Given the description of an element on the screen output the (x, y) to click on. 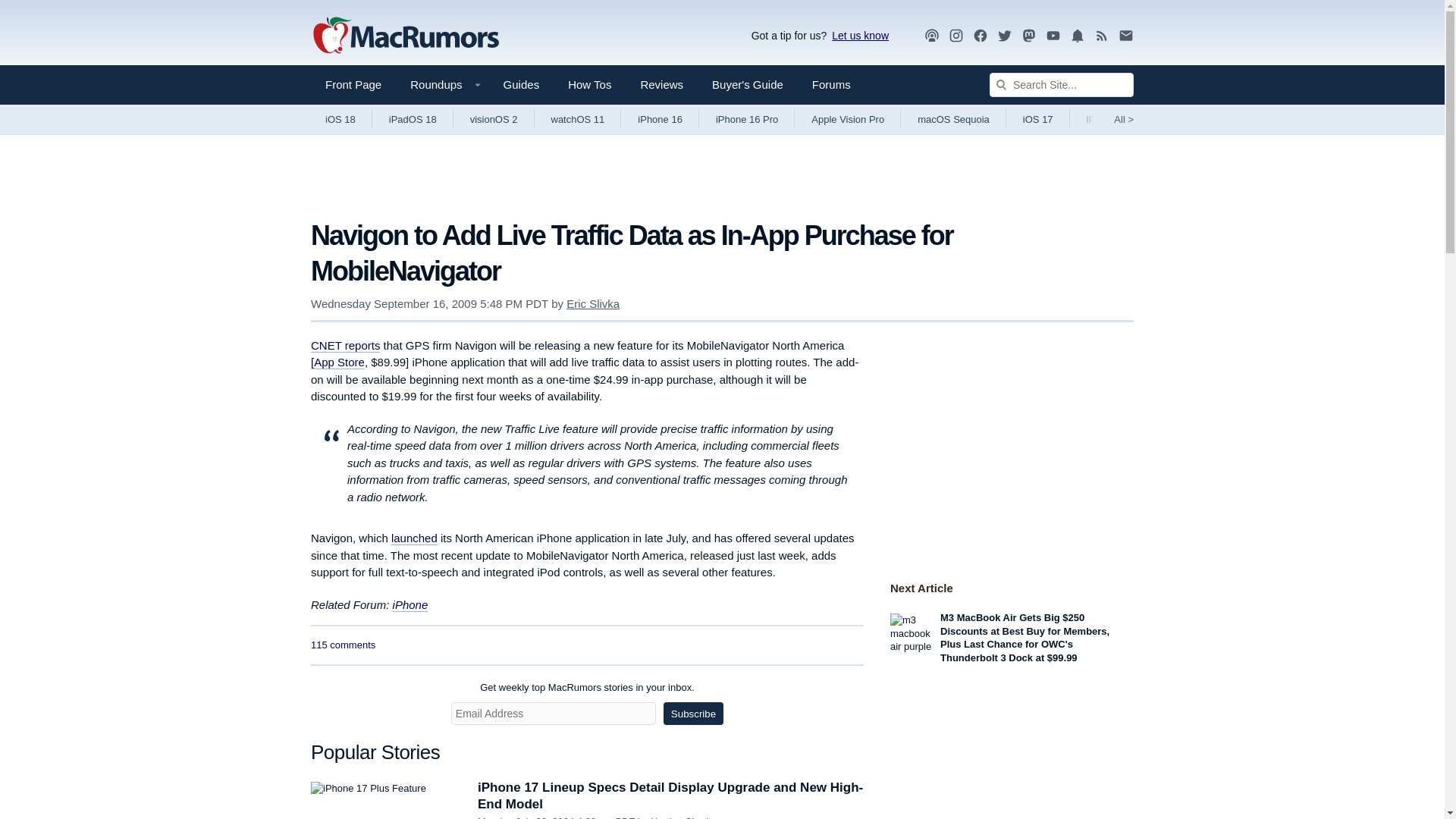
Front Page (353, 84)
Notifications (1077, 35)
Apple, Mac, iPhone, iPad News and Rumors (405, 36)
MacRumors Newsletter Signup (1126, 35)
MacRumors FaceBook Page (980, 35)
Subscribe (693, 712)
How Tos (589, 84)
Newsletter (1126, 35)
RSS (1101, 35)
RSS (1101, 35)
Instagram (956, 35)
Guides (521, 84)
Newsletter (1126, 35)
MacRumors Show (931, 35)
MacRumors on Mastodon (1029, 35)
